Given the description of an element on the screen output the (x, y) to click on. 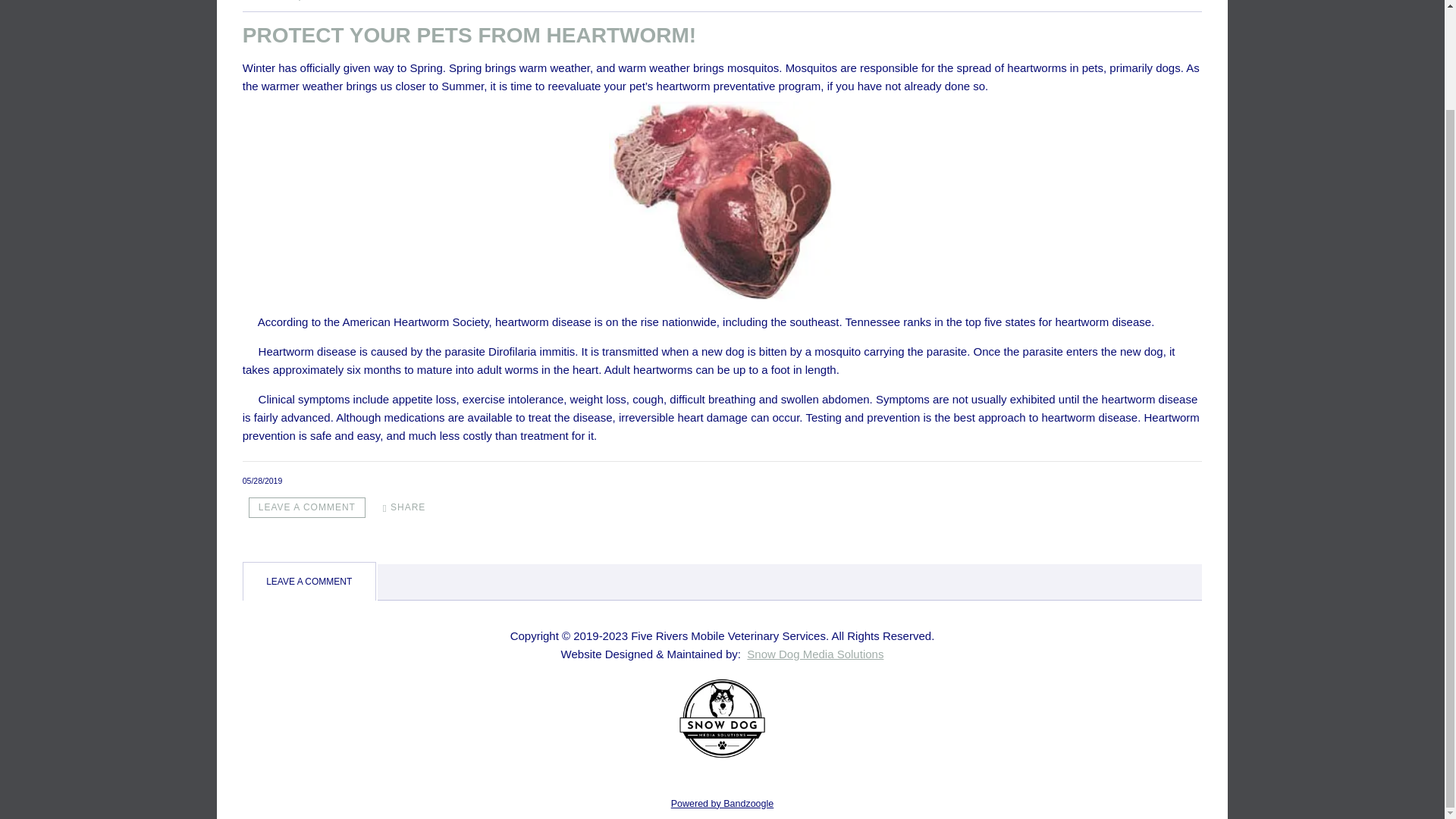
Powered by Bandzoogle (722, 803)
LEAVE A COMMENT (306, 507)
May 28, 2019 18:06 (262, 480)
Share Protect Your Pets from Heartworm! (404, 506)
Snow Dog Media Solutions (722, 705)
Leave a comment (306, 507)
SHARE (404, 506)
Powered by Bandzoogle (722, 803)
